Given the description of an element on the screen output the (x, y) to click on. 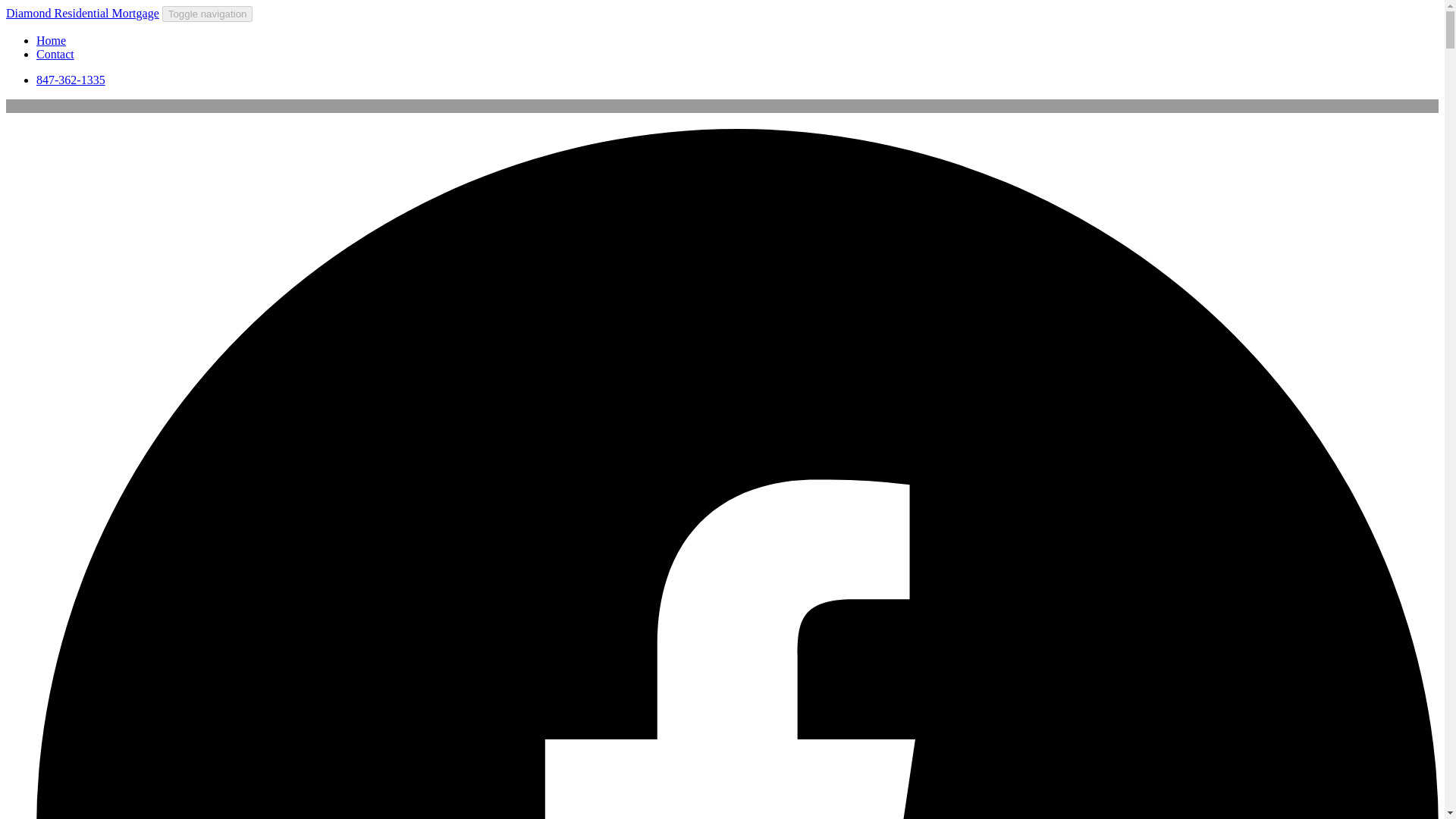
Contact (55, 53)
Home (50, 40)
847-362-1335 (70, 79)
Toggle navigation (207, 13)
Diamond Residential Mortgage (81, 12)
